Given the description of an element on the screen output the (x, y) to click on. 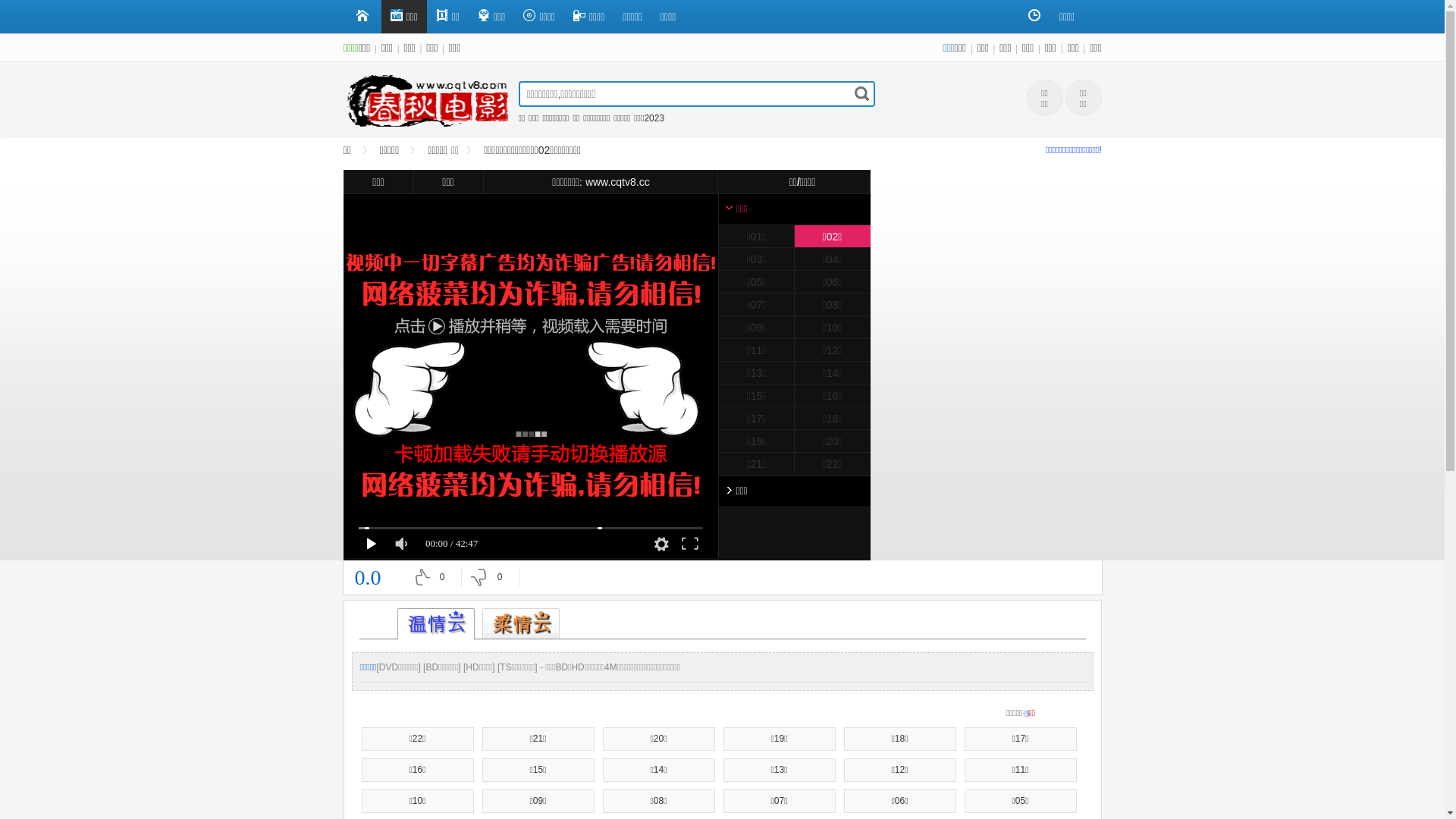
0 Element type: text (432, 577)
0 Element type: text (489, 577)
